Given the description of an element on the screen output the (x, y) to click on. 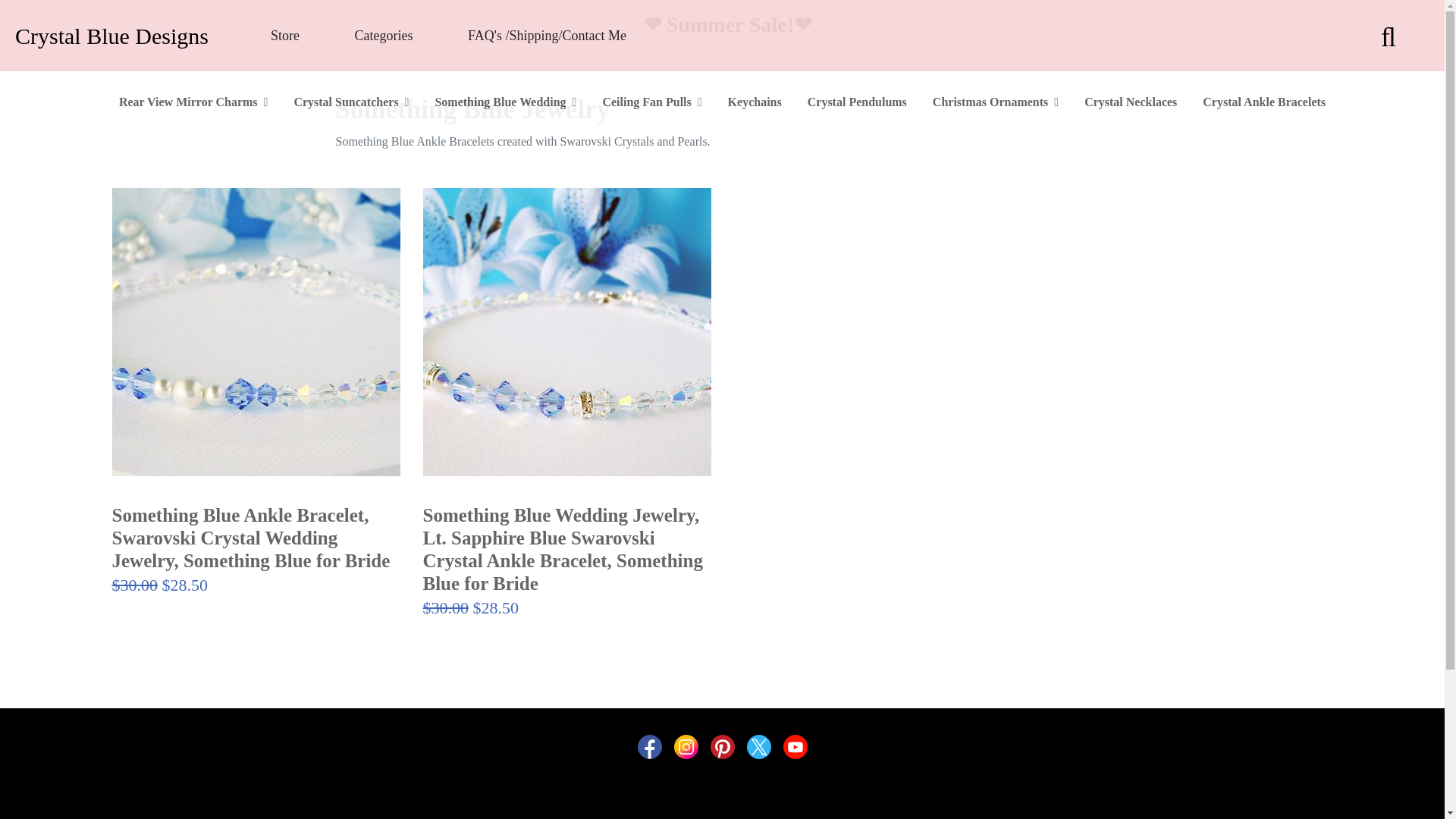
Crystal Pendulums (856, 102)
Crystal Necklaces (1130, 102)
Keychains (754, 102)
Categories (382, 35)
Crystal Blue Designs (111, 34)
Ceiling Fan Pulls (651, 102)
Home (111, 34)
Crystal Ankle Bracelets (1264, 102)
Store (285, 35)
Christmas Ornaments (995, 102)
Crystal Suncatchers (350, 102)
Rear View Mirror Charms (192, 102)
Something Blue Wedding (505, 102)
